Given the description of an element on the screen output the (x, y) to click on. 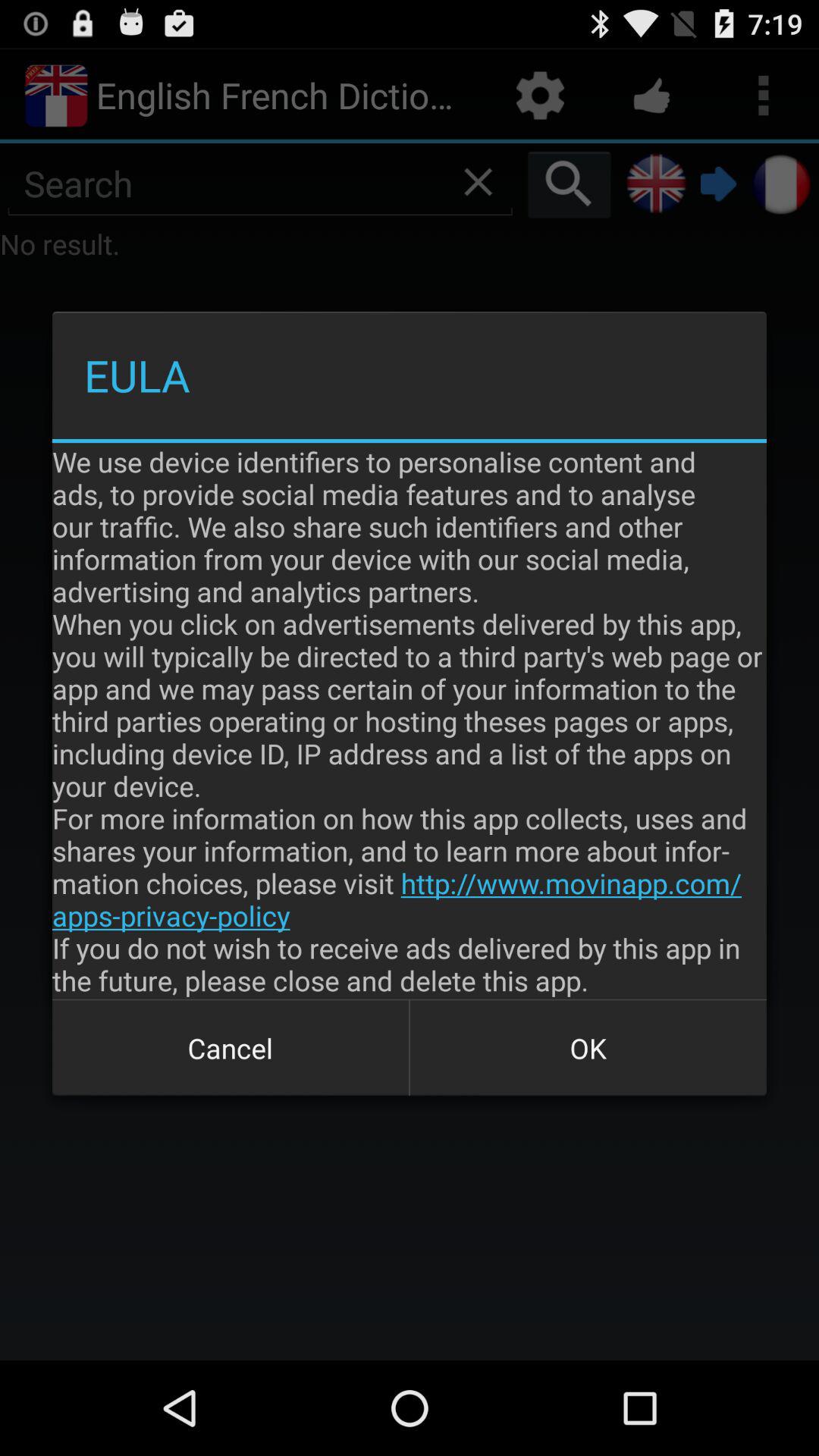
flip until the we use device (409, 721)
